Given the description of an element on the screen output the (x, y) to click on. 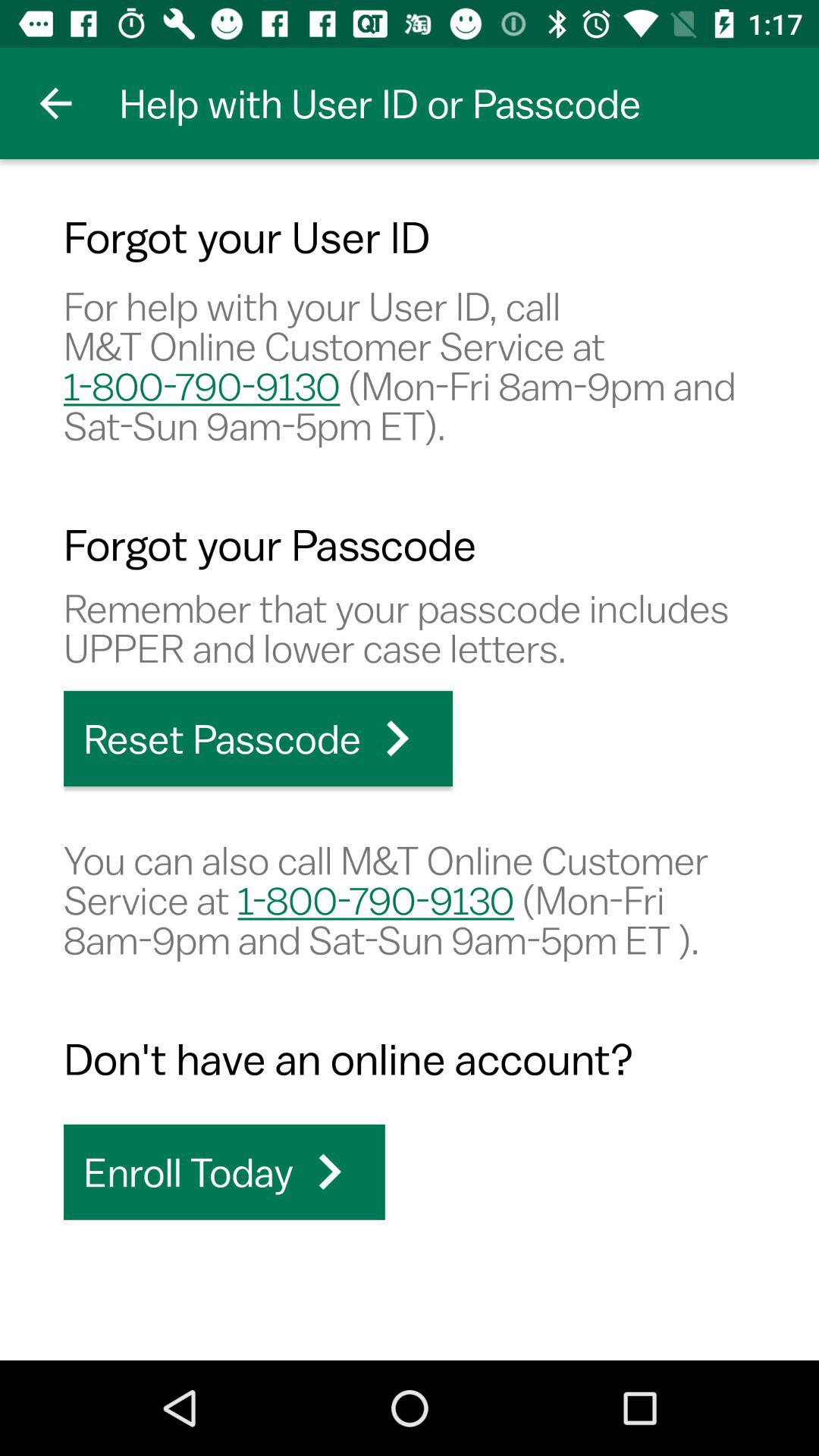
tap item above forgot your user icon (55, 103)
